Given the description of an element on the screen output the (x, y) to click on. 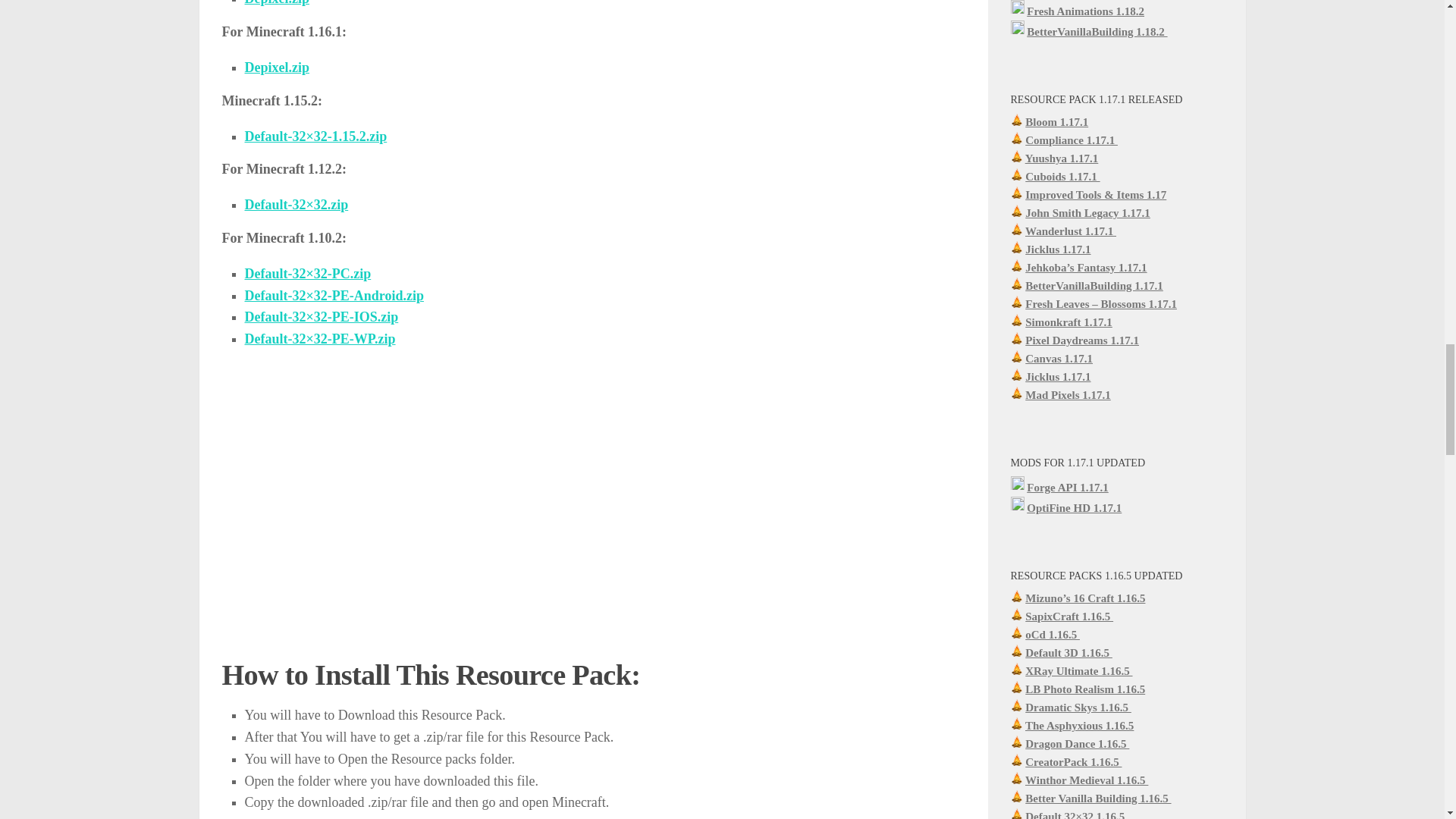
Depixel.zip (276, 2)
Depixel.zip (276, 67)
